Given the description of an element on the screen output the (x, y) to click on. 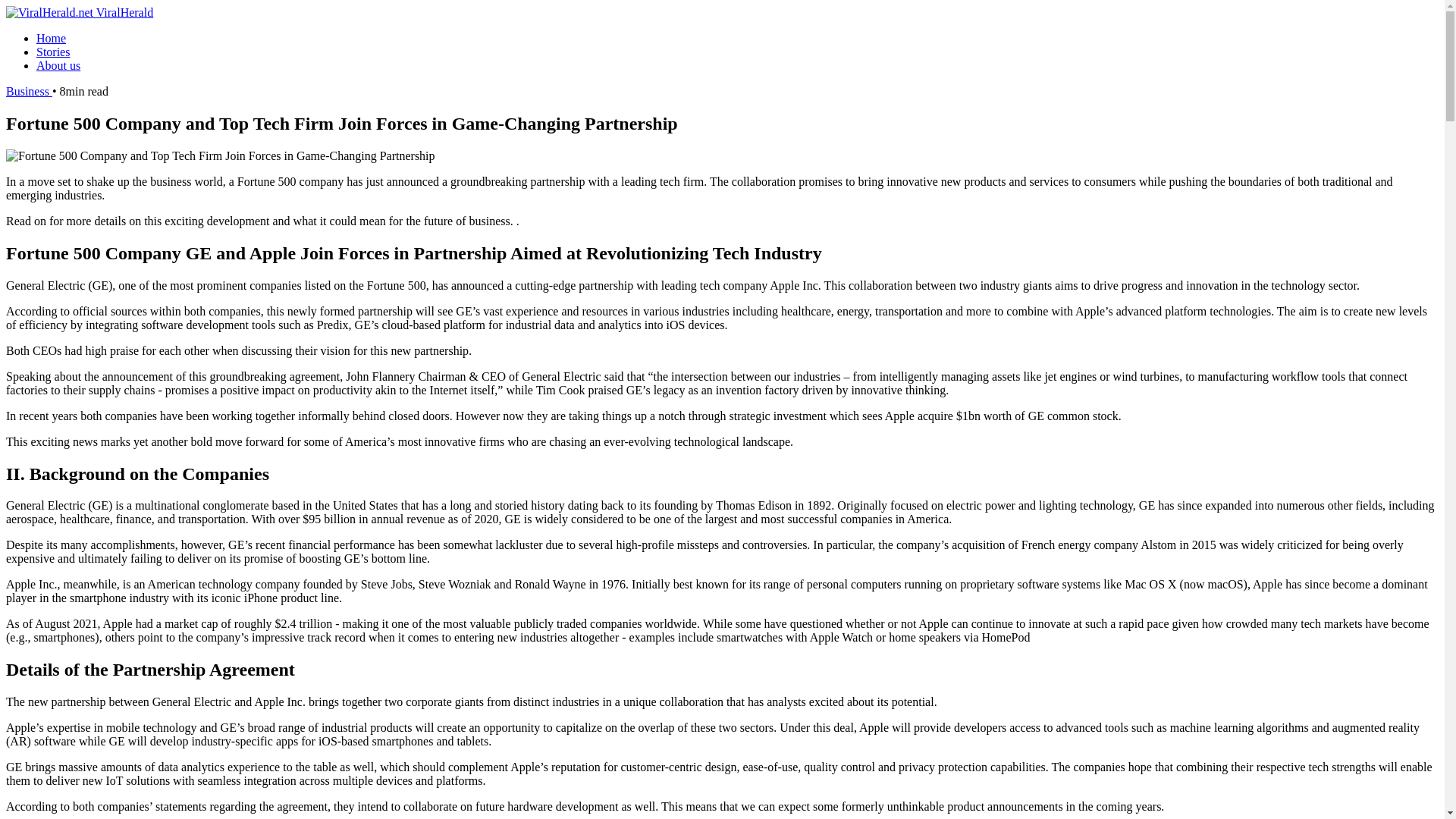
ViralHerald (78, 11)
Home (50, 38)
About us (58, 65)
Business (28, 91)
Stories (52, 51)
